Given the description of an element on the screen output the (x, y) to click on. 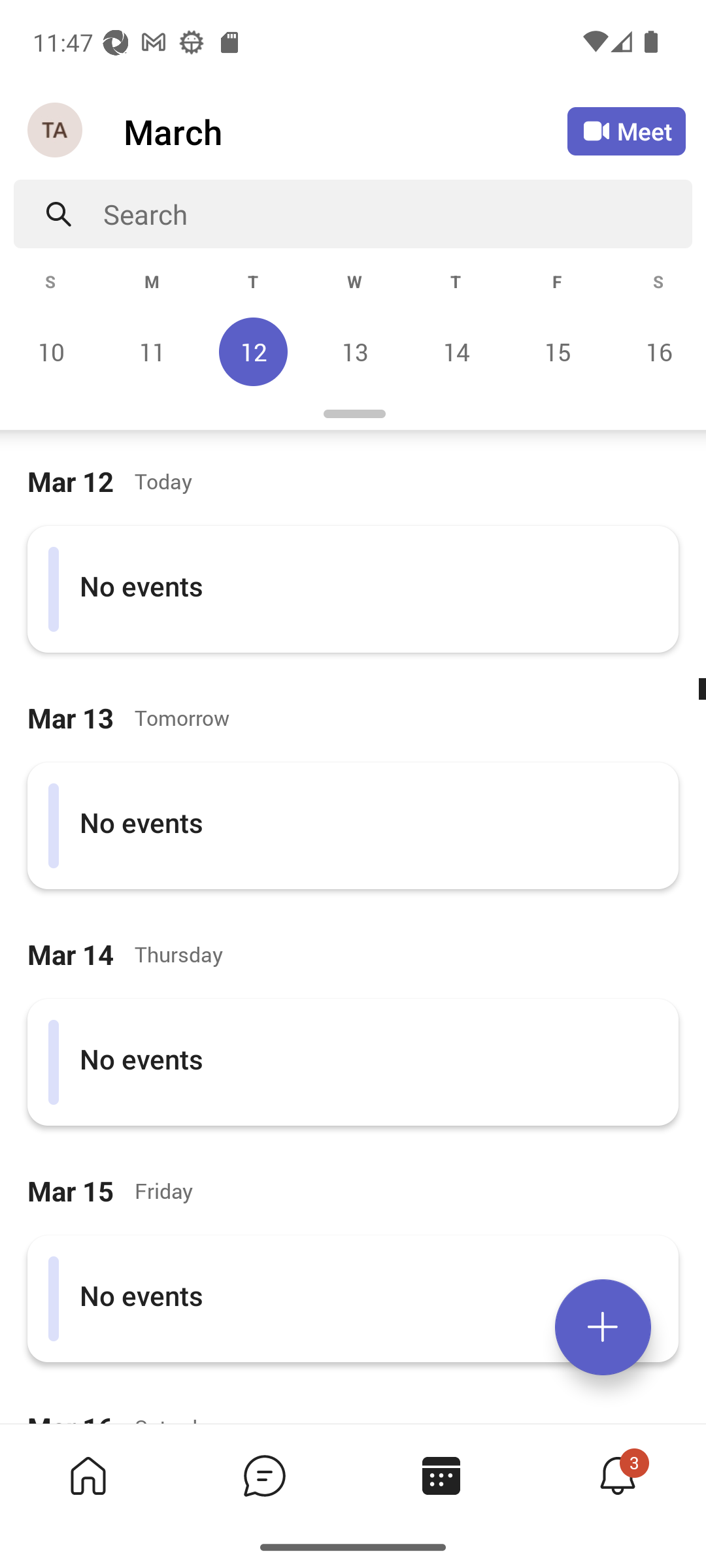
Navigation (56, 130)
Meet Meet now or join with an ID (626, 130)
March March Calendar Agenda View (345, 131)
Search (397, 213)
Sunday, March 10 10 (50, 351)
Monday, March 11 11 (151, 351)
Tuesday, March 12, Today, Selected 12 (253, 351)
Wednesday, March 13 13 (354, 351)
Thursday, March 14 14 (455, 351)
Friday, March 15 15 (556, 351)
Saturday, March 16 16 (656, 351)
Expand meetings menu (602, 1327)
Home tab,1 of 4, not selected (88, 1475)
Chat tab,2 of 4, not selected (264, 1475)
Calendar tab, 3 of 4 (441, 1475)
Activity tab,4 of 4, not selected, 3 new 3 (617, 1475)
